Given the description of an element on the screen output the (x, y) to click on. 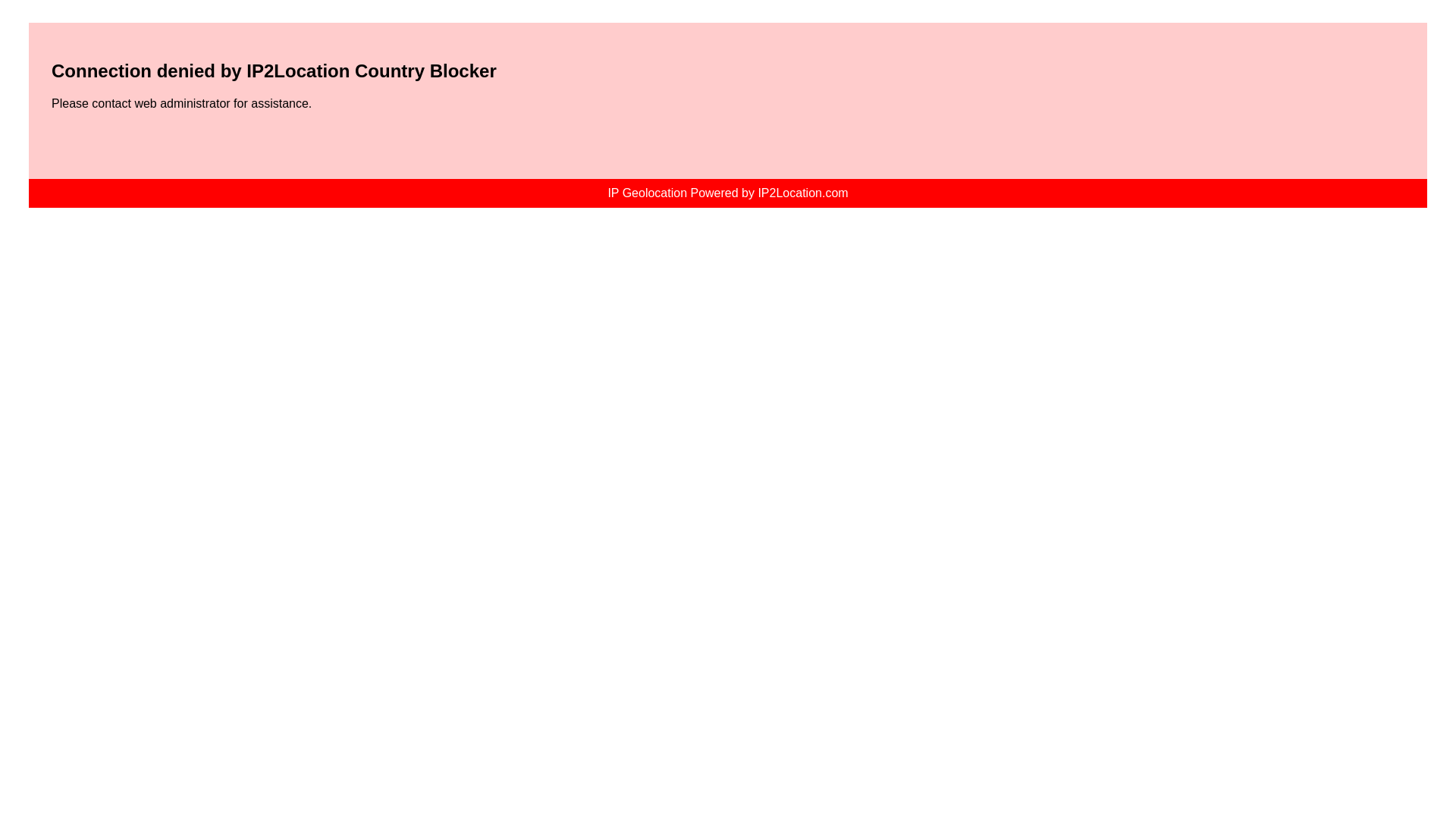
IP Geolocation Powered by IP2Location.com Element type: text (727, 192)
